Given the description of an element on the screen output the (x, y) to click on. 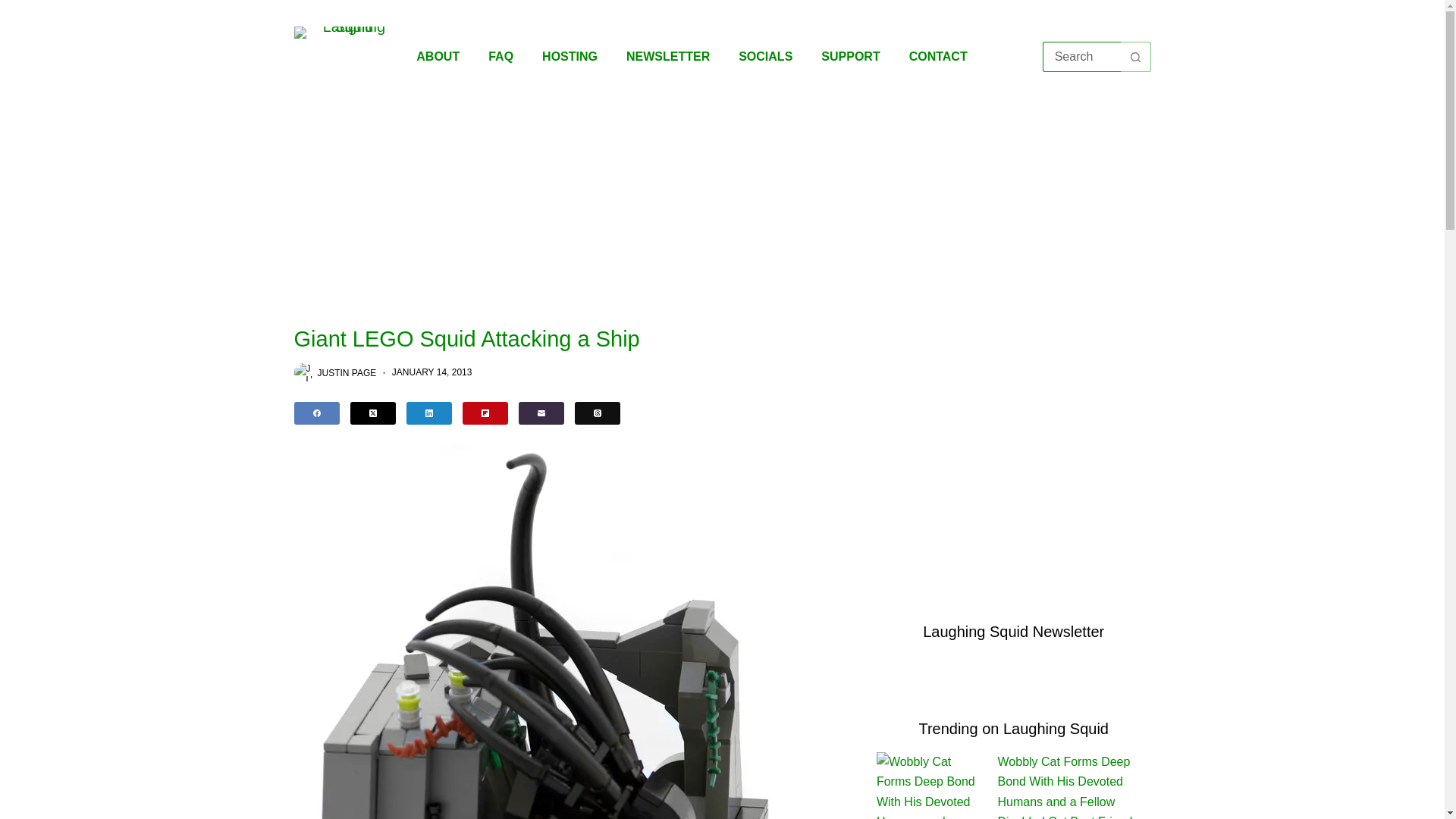
JUSTIN PAGE (346, 371)
Search for... (1081, 56)
Posts by Justin Page (346, 371)
NEWSLETTER (667, 56)
Skip to content (15, 7)
Giant LEGO Squid Attacking a Ship (572, 338)
